Given the description of an element on the screen output the (x, y) to click on. 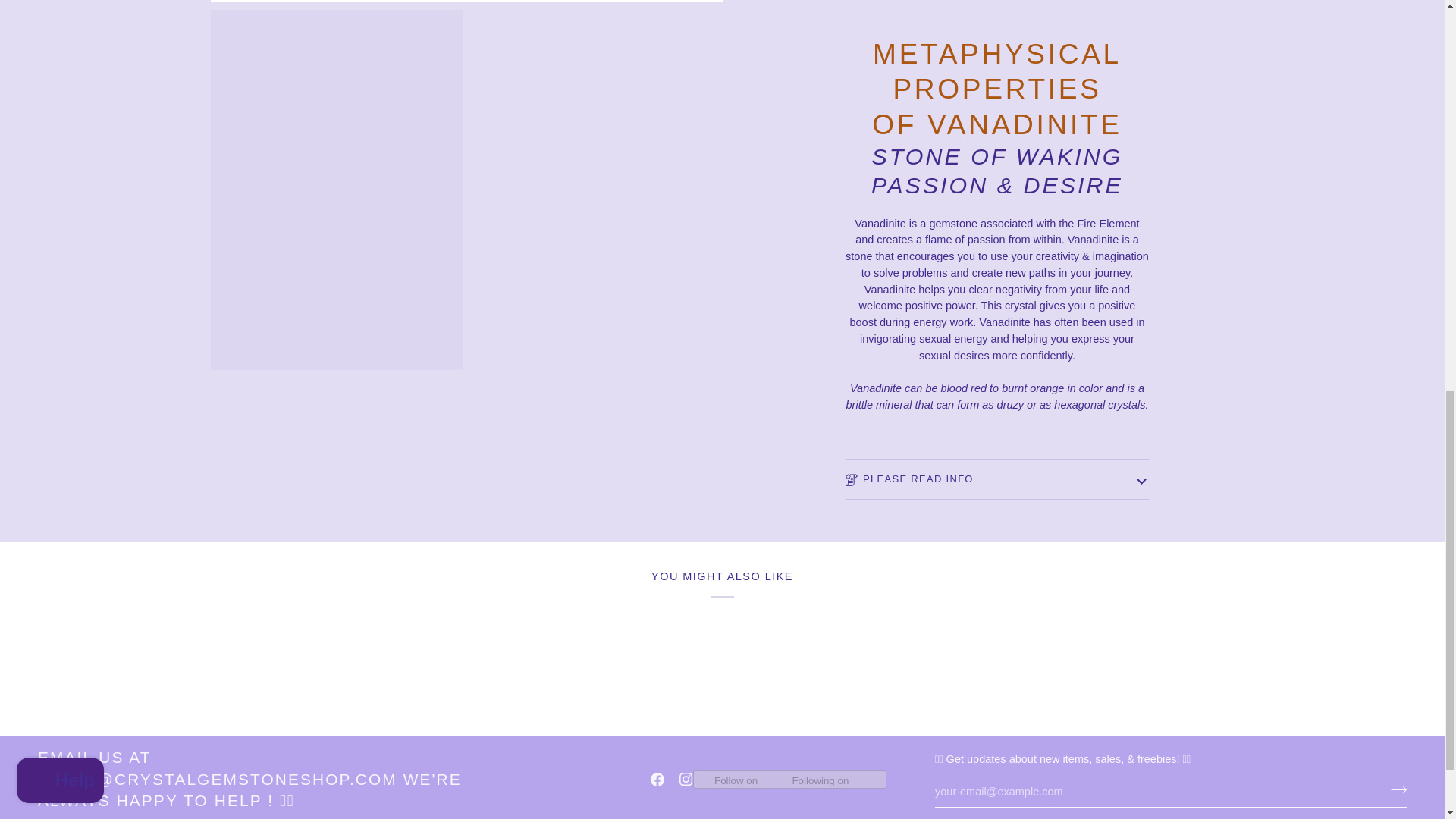
Instagram (686, 779)
PLEASE READ INFO (996, 469)
Facebook (656, 779)
